Given the description of an element on the screen output the (x, y) to click on. 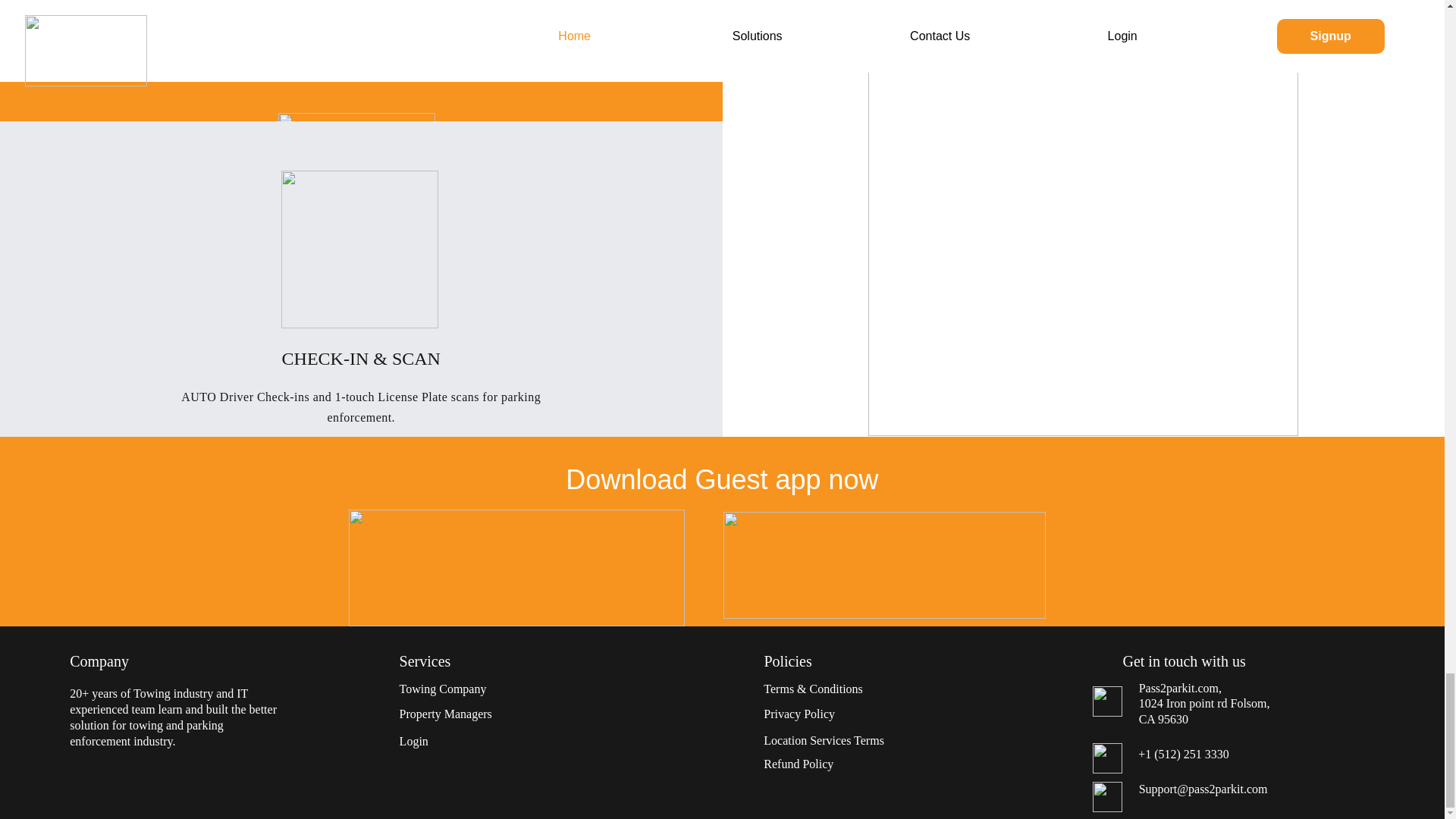
Towing Company (442, 688)
Property Managers (445, 713)
Privacy Policy (798, 713)
Login (413, 740)
Location Services Terms (822, 739)
